Given the description of an element on the screen output the (x, y) to click on. 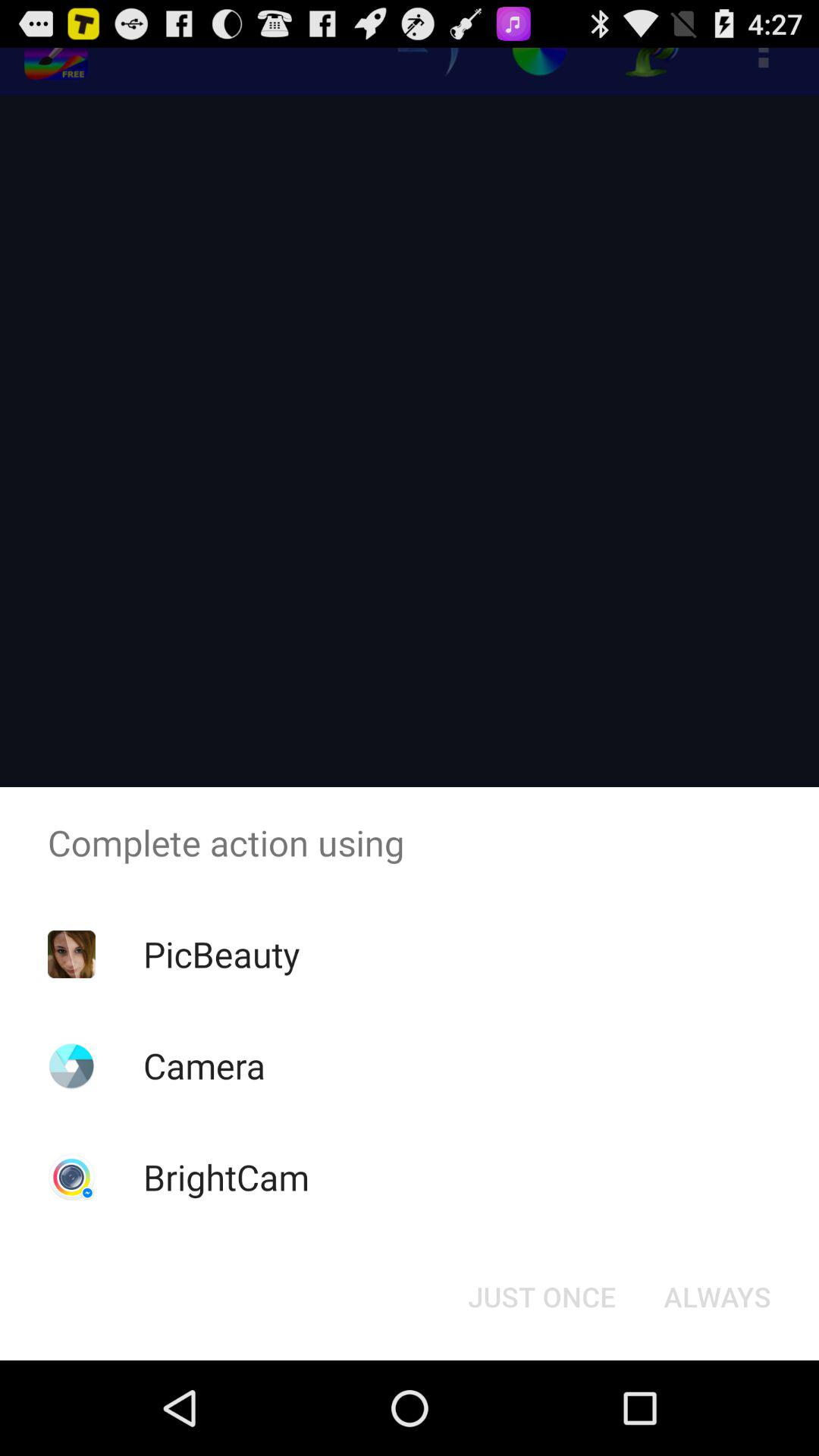
flip until the just once button (541, 1296)
